Given the description of an element on the screen output the (x, y) to click on. 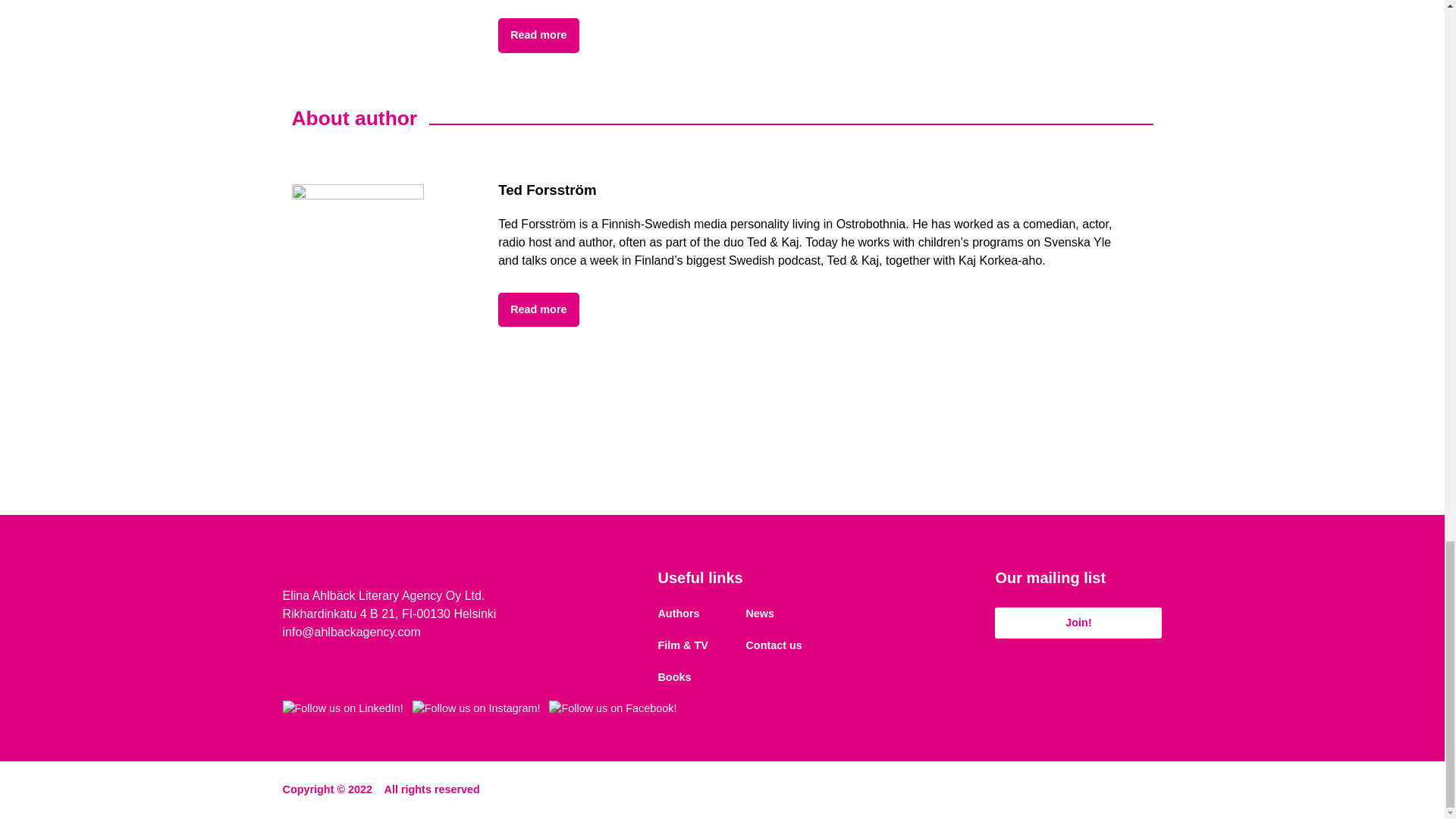
Authors (678, 610)
News (759, 610)
Read more (537, 35)
Read more (537, 309)
Follow us on LinkedIn! (342, 709)
Contact us (773, 642)
Books (674, 673)
Follow us on Facebook! (612, 709)
Follow us on Instagram! (476, 709)
Join! (1077, 623)
